Given the description of an element on the screen output the (x, y) to click on. 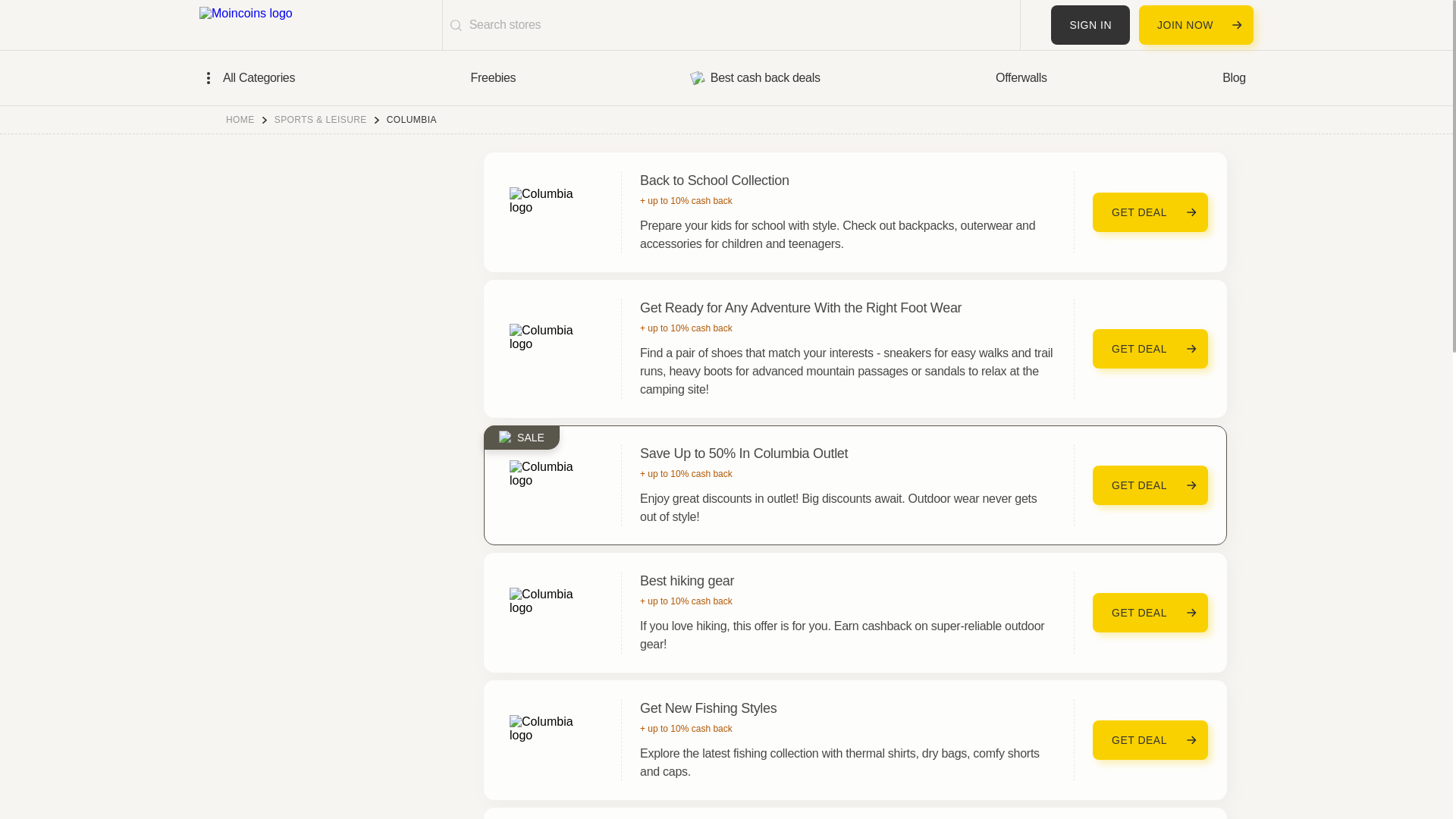
GET DEAL (1150, 485)
Blog (1234, 77)
SIGN IN (1090, 24)
GET DEAL (1150, 211)
GET DEAL (1150, 612)
Best cash back deals (756, 77)
JOIN NOW (1195, 24)
GET DEAL (1150, 348)
Offerwalls (1020, 77)
Freebies (493, 77)
